Given the description of an element on the screen output the (x, y) to click on. 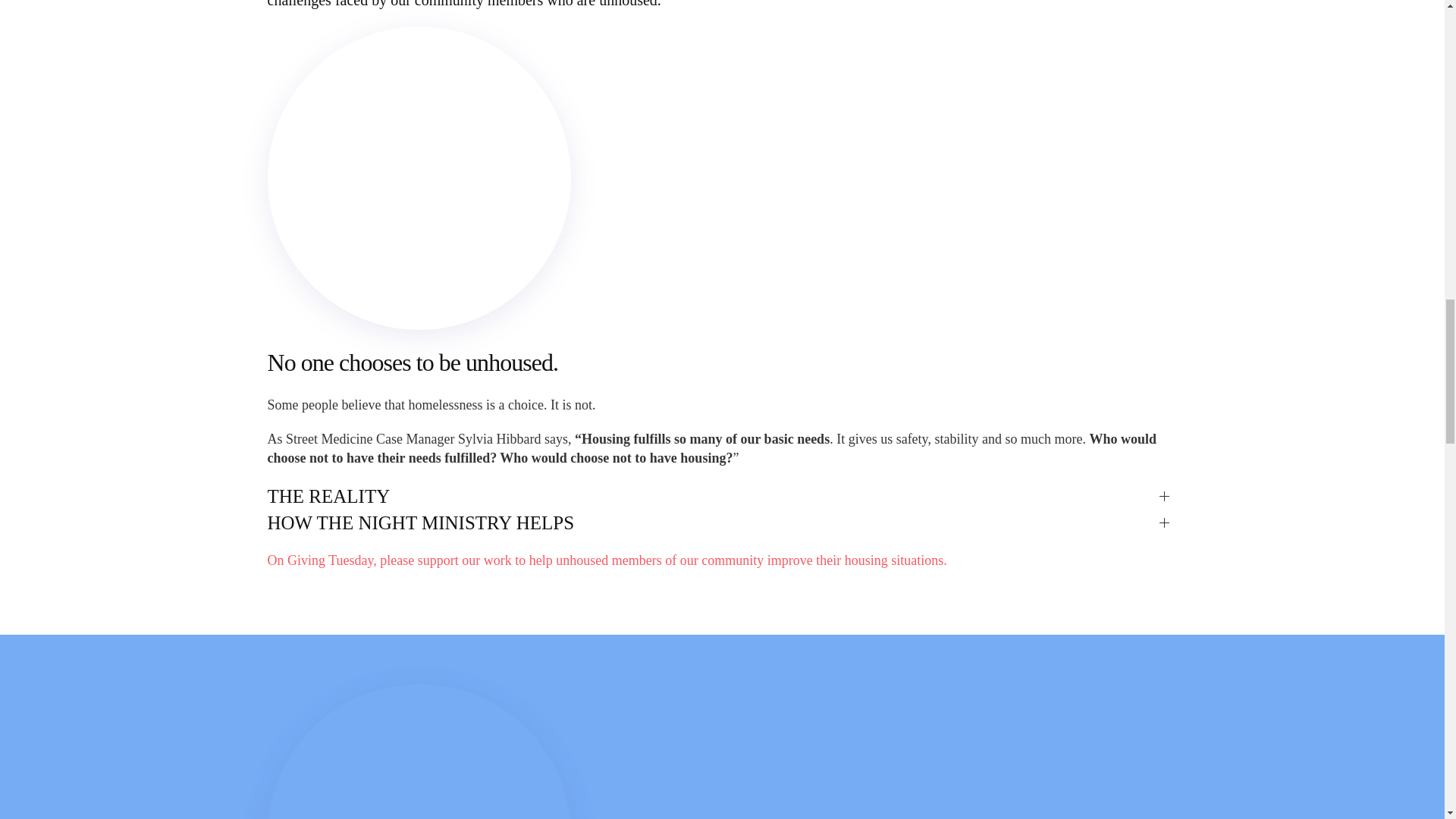
THE REALITY (721, 496)
HOW THE NIGHT MINISTRY HELPS (721, 522)
